Given the description of an element on the screen output the (x, y) to click on. 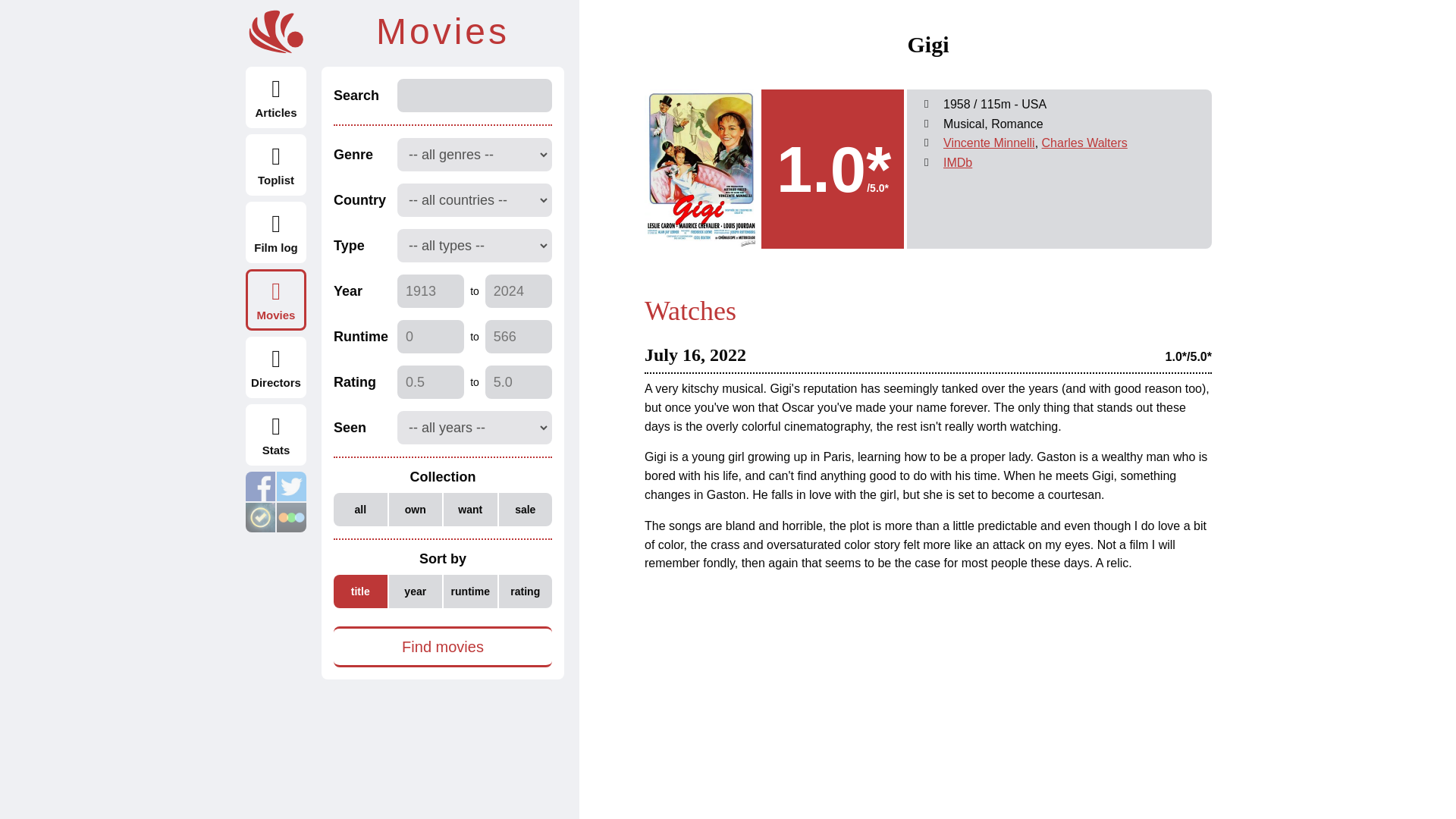
Articles (275, 96)
Movies (275, 299)
Vincente Minnelli (989, 142)
Toplist (275, 164)
Film log (275, 231)
Find movies (442, 646)
onderhond.com (275, 31)
Charles Walters (1084, 142)
IMDb (957, 162)
Stats (275, 435)
Directors (275, 367)
